Given the description of an element on the screen output the (x, y) to click on. 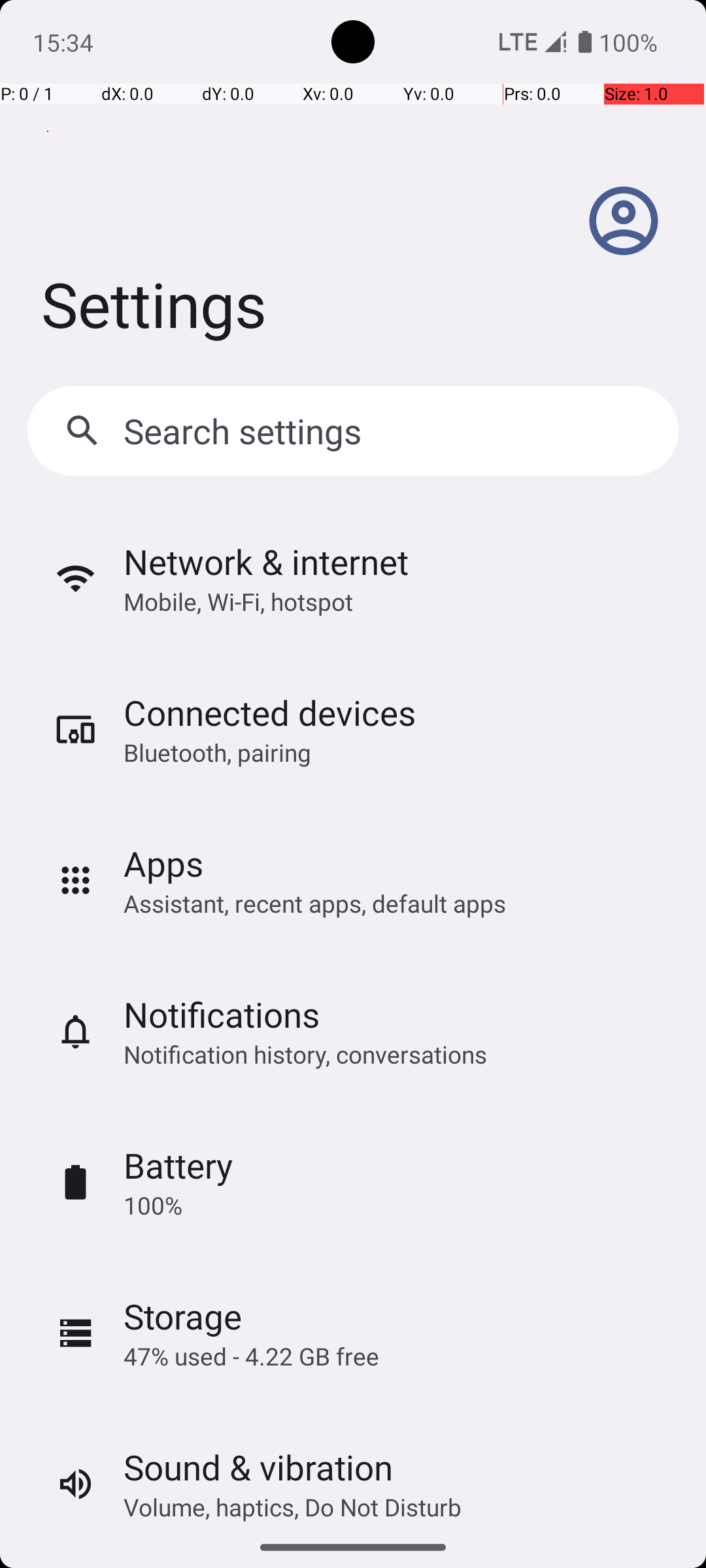
47% used - 4.22 GB free Element type: android.widget.TextView (251, 1355)
